Given the description of an element on the screen output the (x, y) to click on. 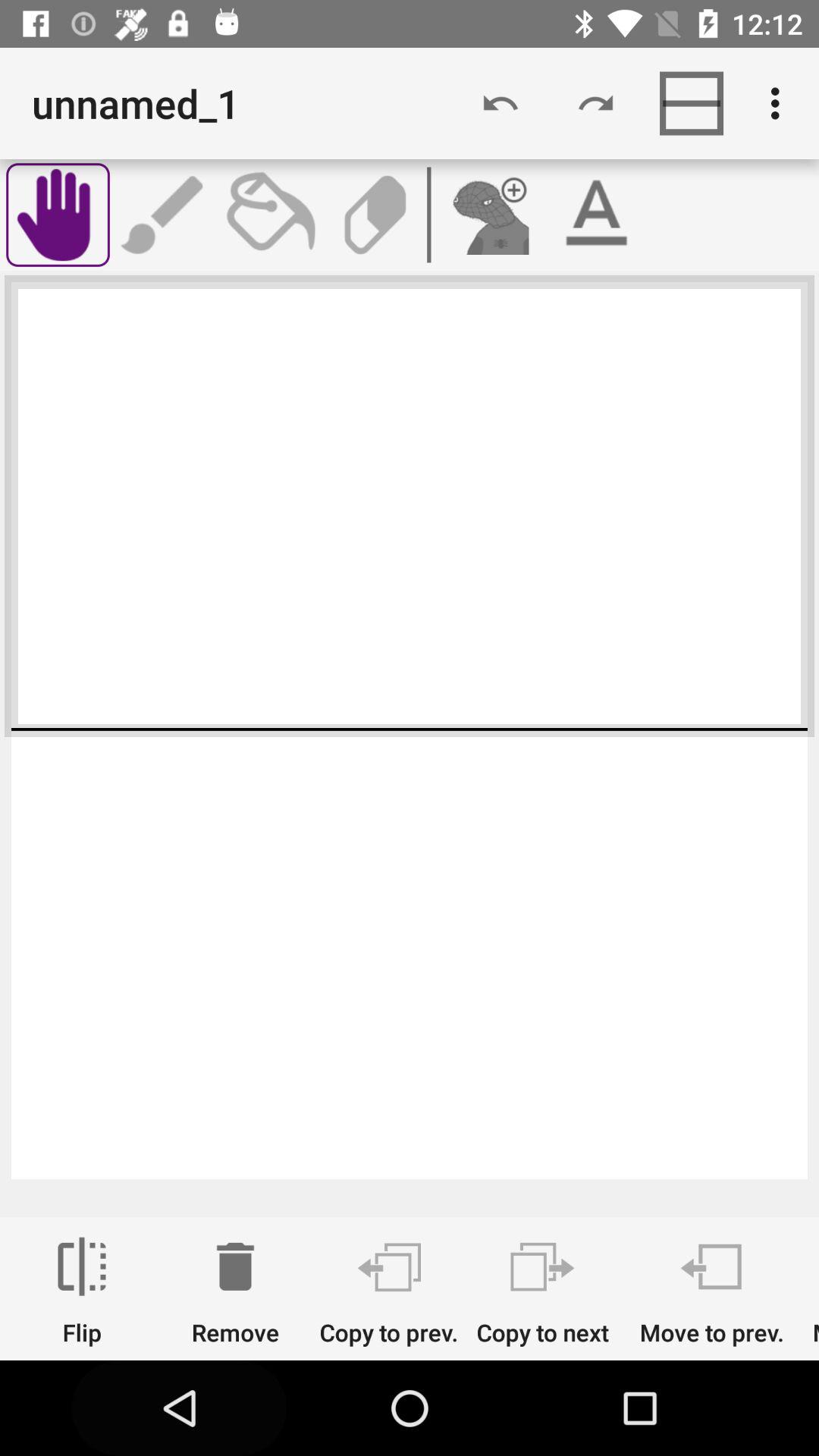
click the item below unnamed_1 icon (163, 214)
